Given the description of an element on the screen output the (x, y) to click on. 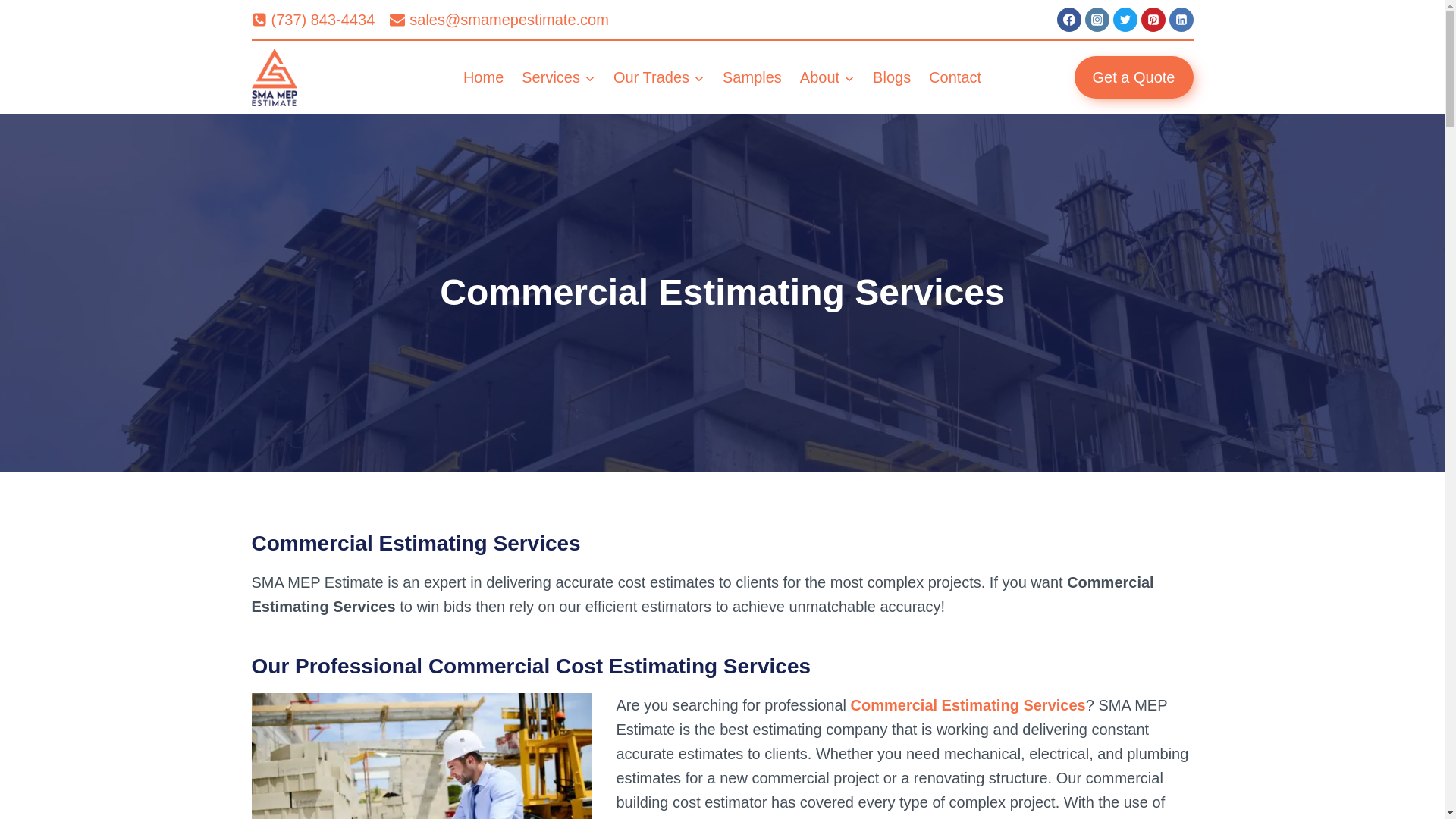
Samples (751, 77)
FastDUCT (1080, 818)
Contact (955, 77)
Get a Quote (1133, 77)
Services (558, 77)
About (826, 77)
Blogs (891, 77)
Our Trades (658, 77)
Home (483, 77)
Commercial Estimating Services (968, 704)
